Given the description of an element on the screen output the (x, y) to click on. 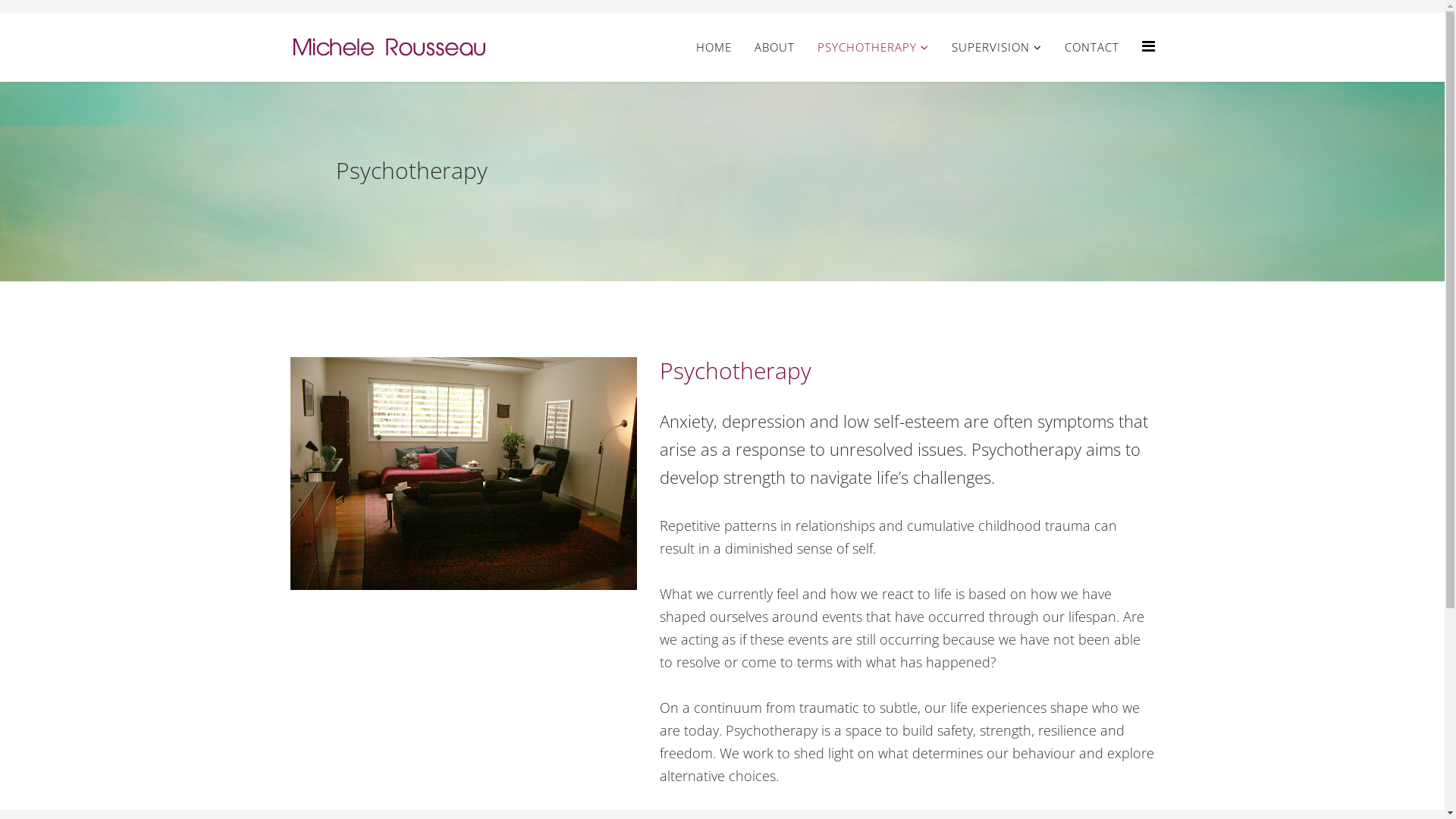
ABOUT Element type: text (774, 46)
SUPERVISION Element type: text (996, 46)
Helix Megamenu Options Element type: hover (1148, 45)
PSYCHOTHERAPY Element type: text (872, 46)
HOME Element type: text (713, 46)
CONTACT Element type: text (1090, 46)
